Given the description of an element on the screen output the (x, y) to click on. 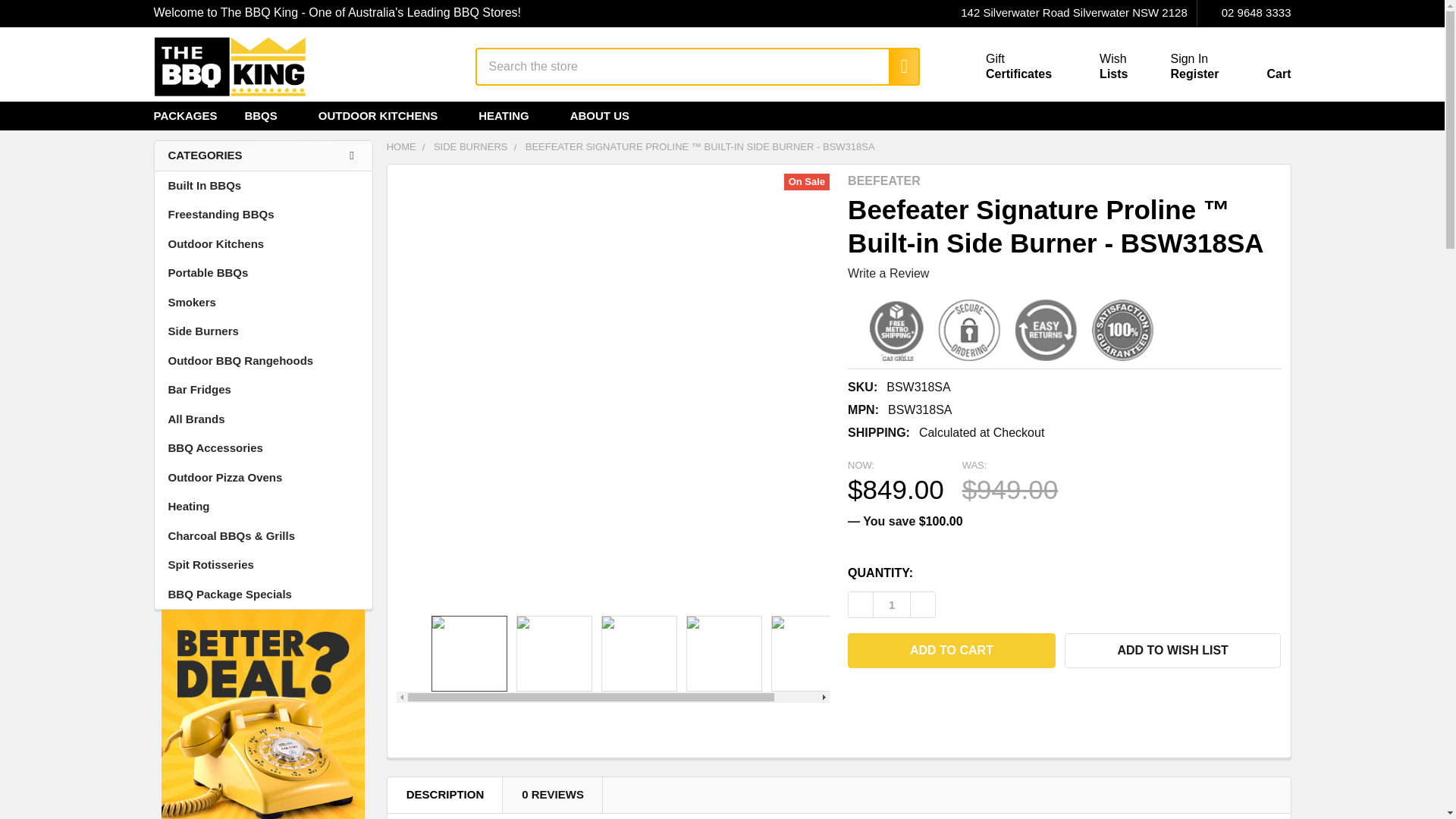
Facebook (1213, 114)
Instagram (1276, 114)
Cart (1260, 69)
02 9648 3333 (1000, 66)
Sign In (1095, 66)
Search (1243, 13)
1 (1189, 58)
Gift Certificates (896, 66)
